Given the description of an element on the screen output the (x, y) to click on. 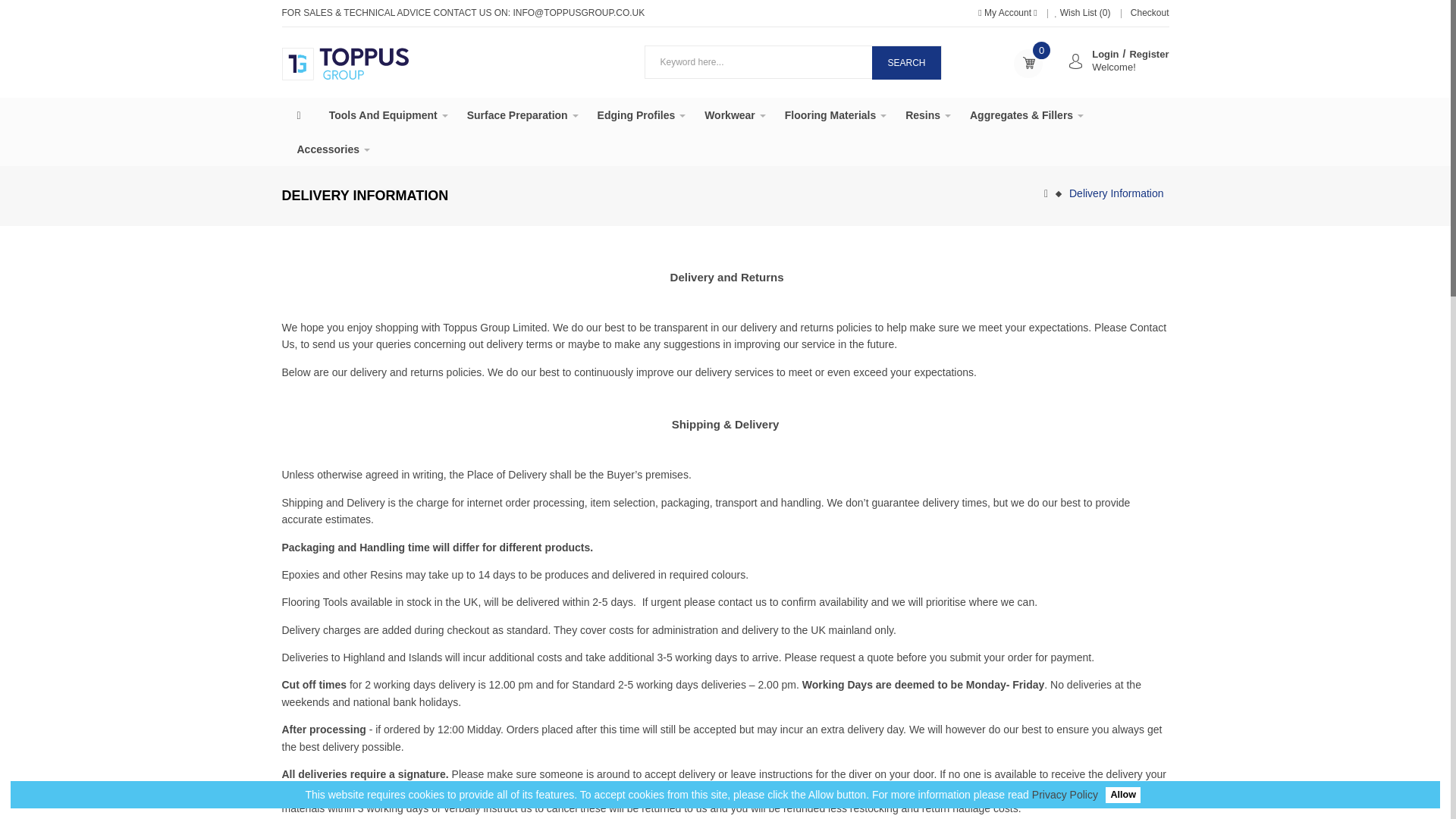
My Account  (1008, 12)
My Account (1008, 12)
Register (1149, 53)
SEARCH (906, 62)
Checkout (1148, 12)
0 (1027, 63)
Toppus Group (345, 64)
Tools And Equipment (388, 114)
Checkout  (1148, 12)
Surface Preparation (522, 114)
